Given the description of an element on the screen output the (x, y) to click on. 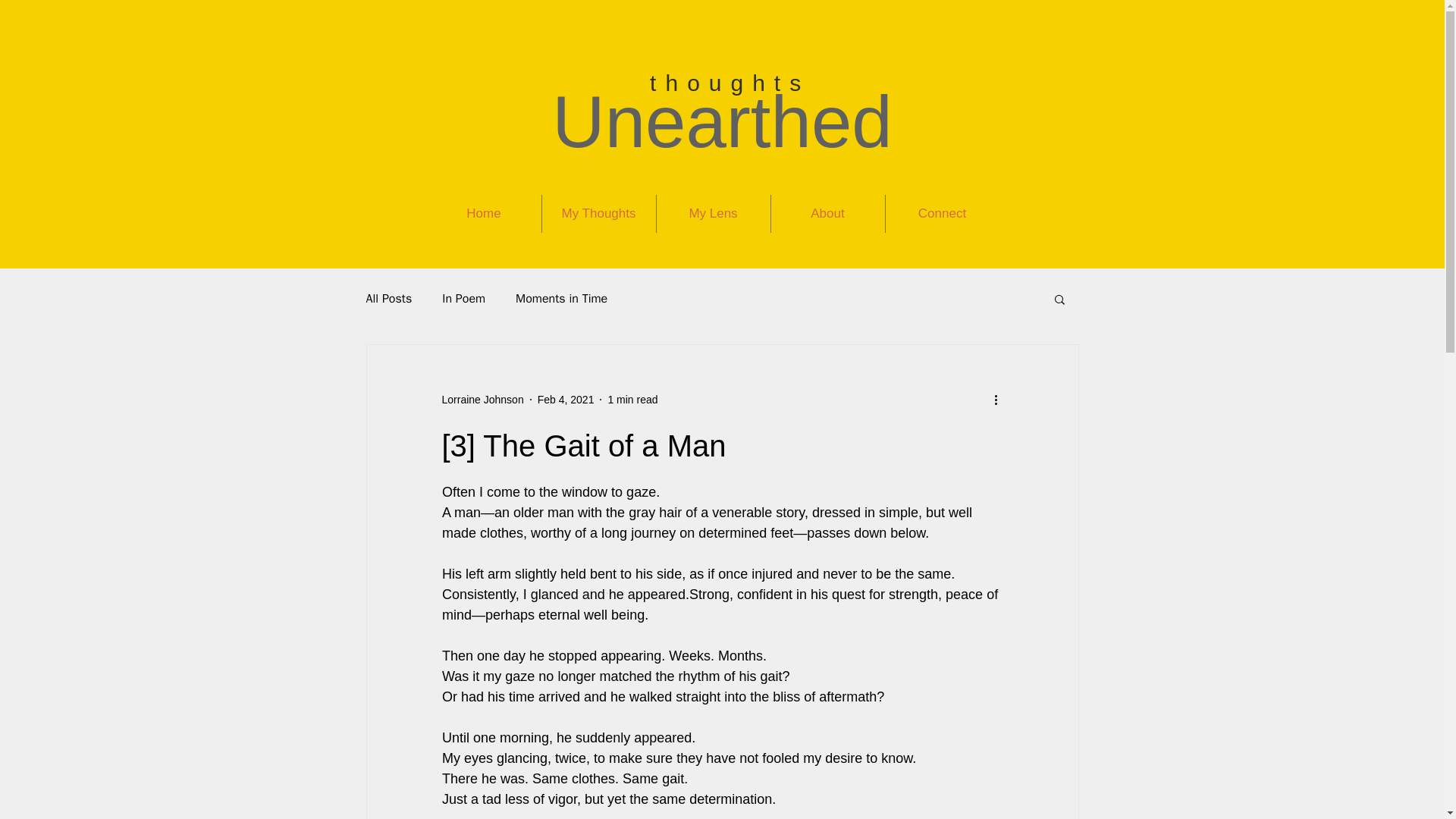
Unearthed (721, 121)
In Poem (463, 299)
All Posts (388, 299)
Feb 4, 2021 (565, 398)
Connect (940, 213)
Moments in Time (561, 299)
About (827, 213)
My Thoughts (598, 213)
1 min read (632, 398)
Lorraine Johnson (481, 399)
Home (483, 213)
My Lens (712, 213)
